Given the description of an element on the screen output the (x, y) to click on. 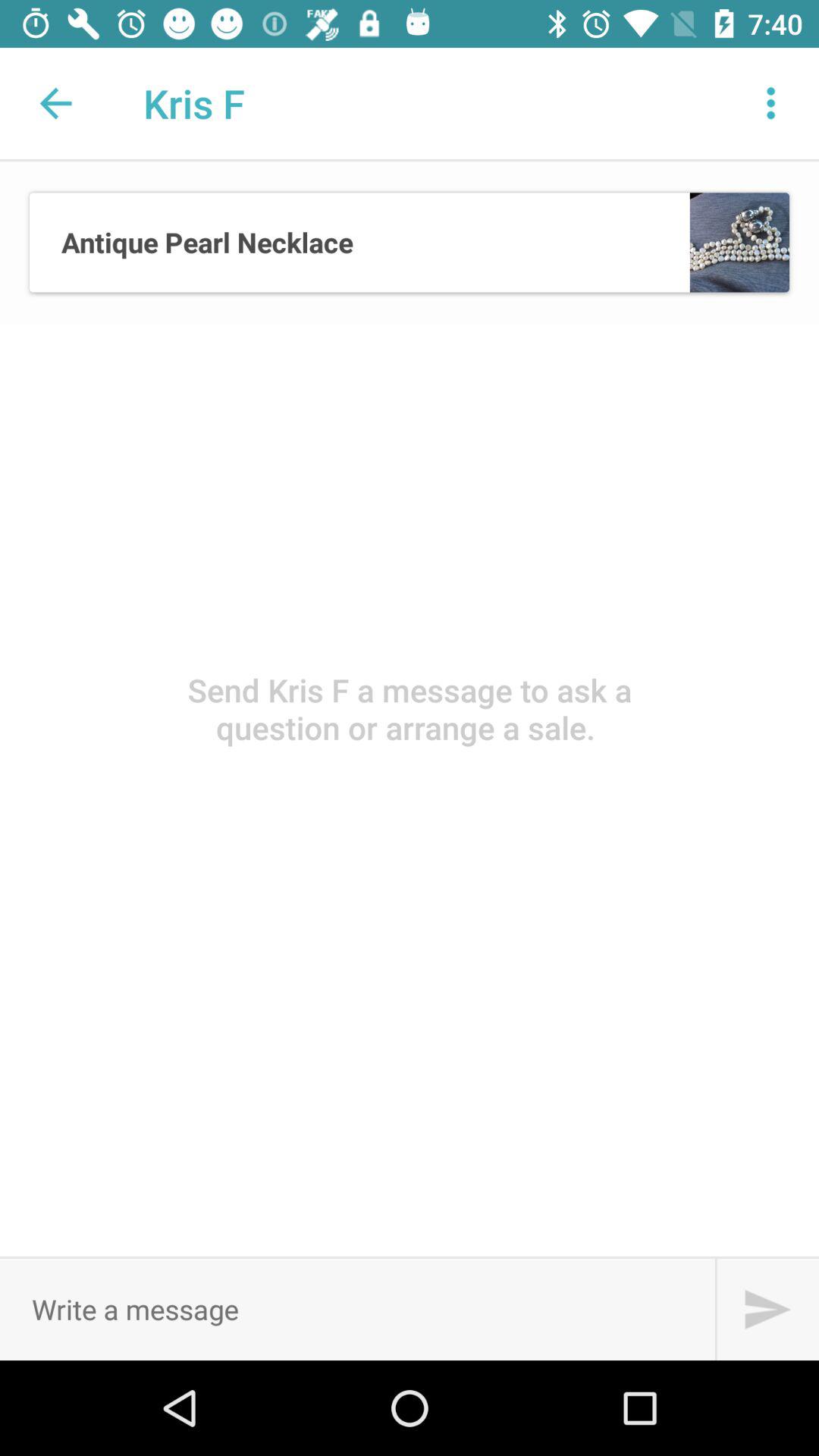
select app next to kris f item (771, 103)
